Given the description of an element on the screen output the (x, y) to click on. 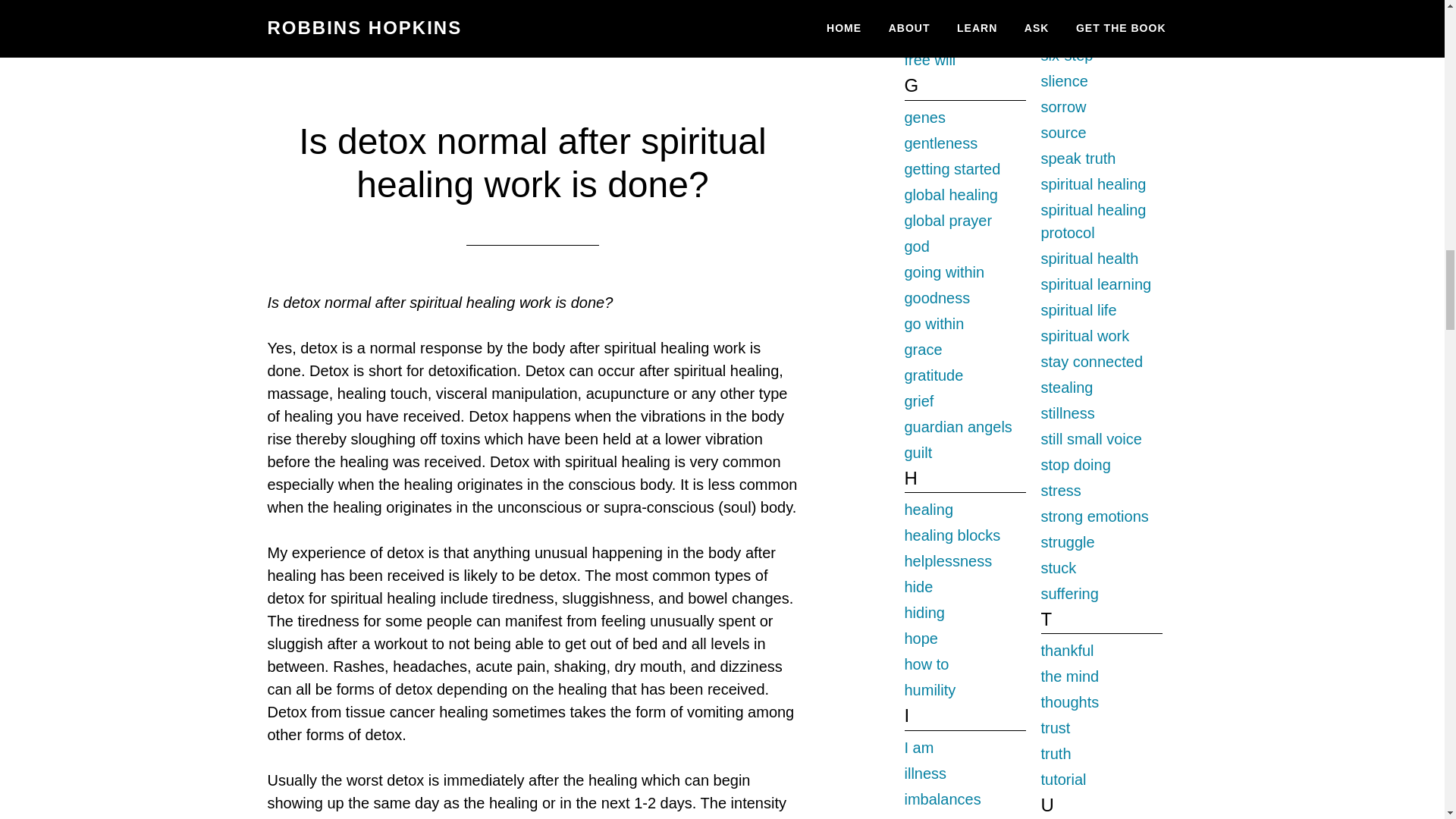
detox (713, 2)
allergy (430, 2)
clearing (549, 2)
balance (488, 2)
Is detox normal after spiritual healing work is done? (531, 163)
clearing energy (636, 2)
spiritual healing (574, 20)
healing (765, 2)
not healing (475, 20)
